Given the description of an element on the screen output the (x, y) to click on. 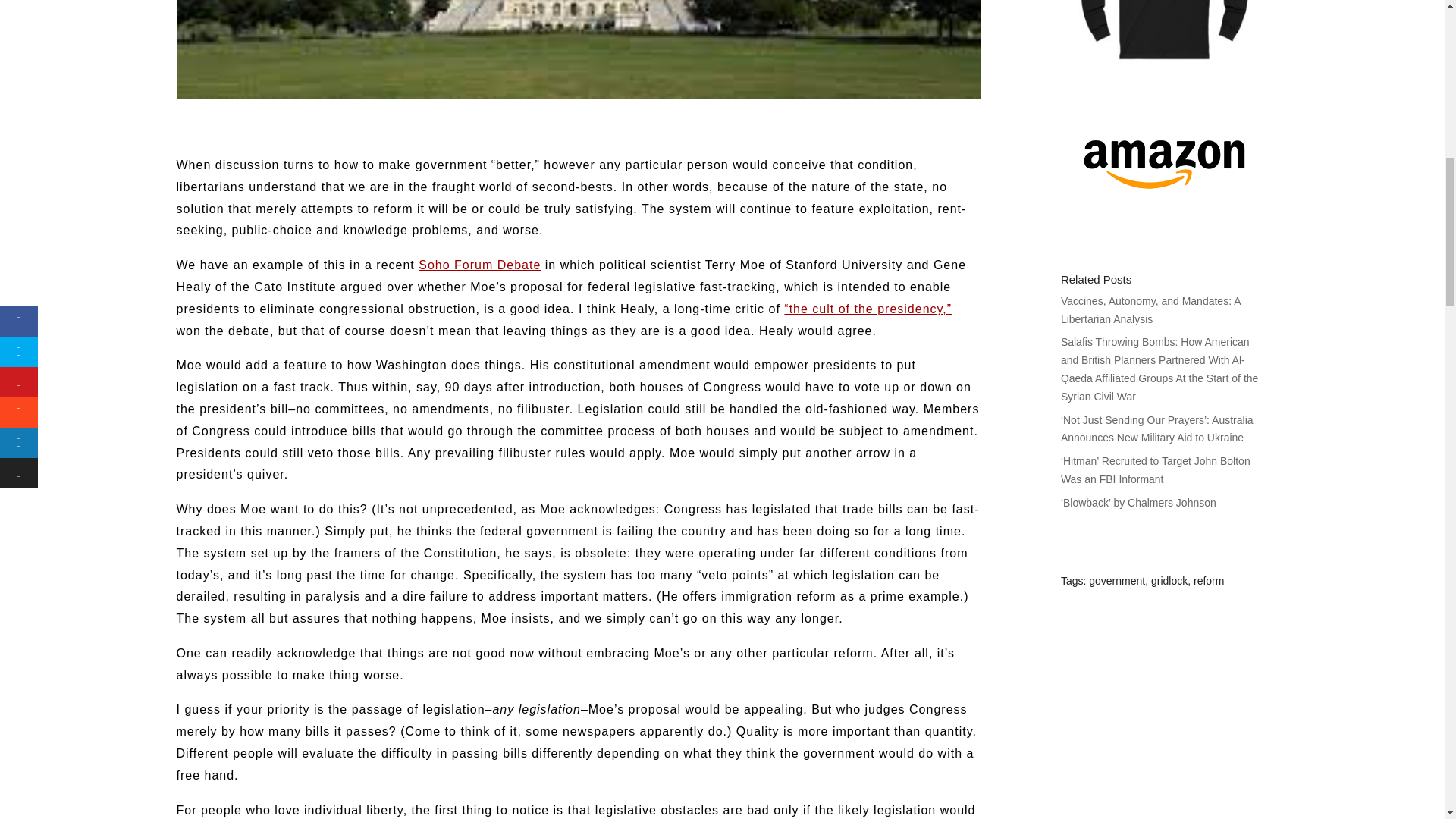
government (1116, 580)
gridlock (1169, 580)
capitol (577, 49)
reform (1208, 580)
